Given the description of an element on the screen output the (x, y) to click on. 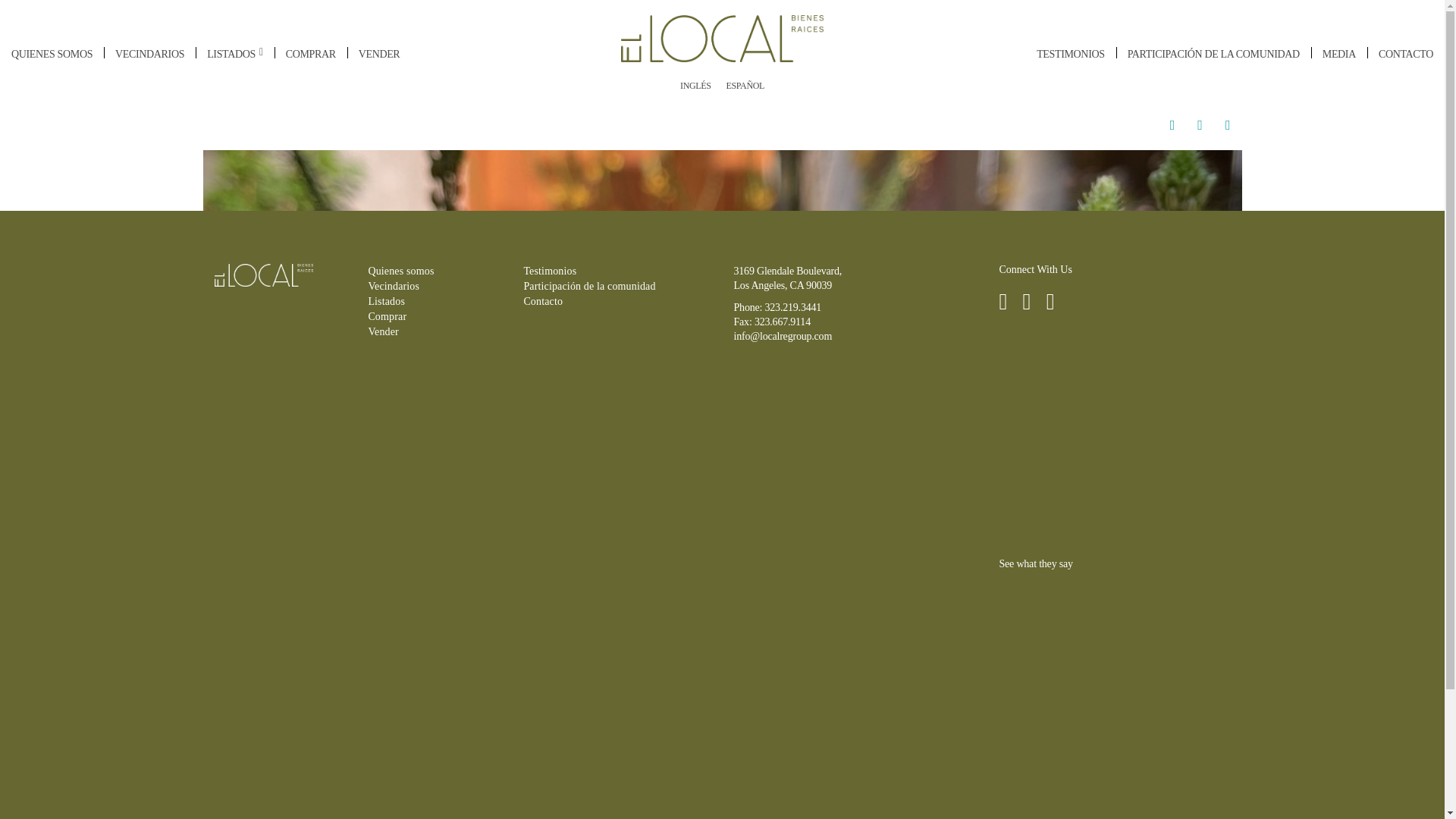
TESTIMONIOS (1070, 54)
COMPRAR (311, 54)
MEDIA (1339, 54)
LISTADOS (235, 54)
QUIENES SOMOS (51, 54)
VENDER (379, 54)
VECINDARIOS (149, 54)
Quienes somos (51, 54)
Listados (235, 54)
Vecindarios (149, 54)
